Given the description of an element on the screen output the (x, y) to click on. 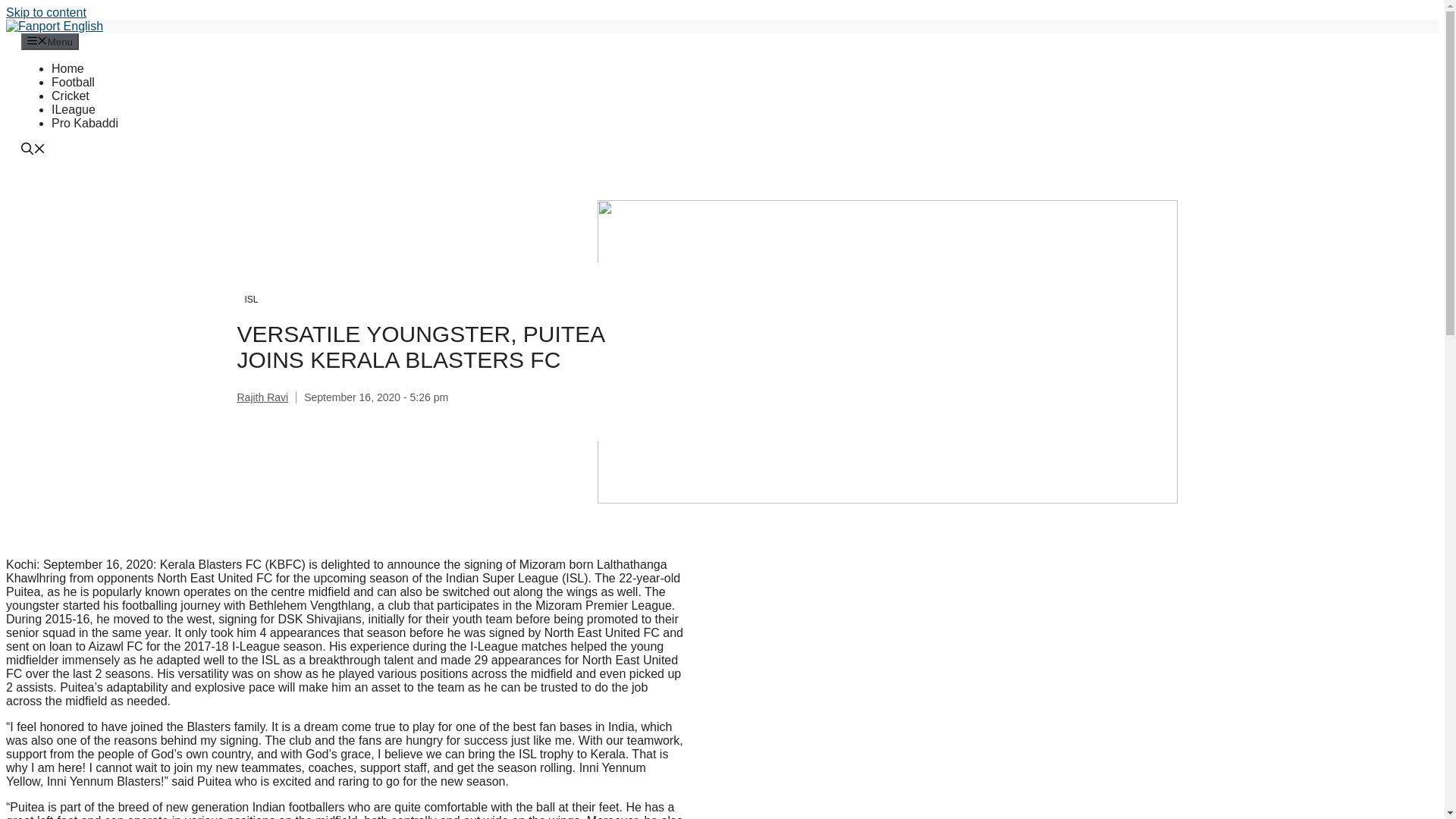
Rajith Ravi (261, 397)
Football (72, 82)
ISL (249, 299)
Home (67, 68)
Skip to content (45, 11)
Menu (49, 41)
Pro Kabaddi (83, 123)
Cricket (69, 95)
ILeague (73, 109)
Skip to content (45, 11)
